Given the description of an element on the screen output the (x, y) to click on. 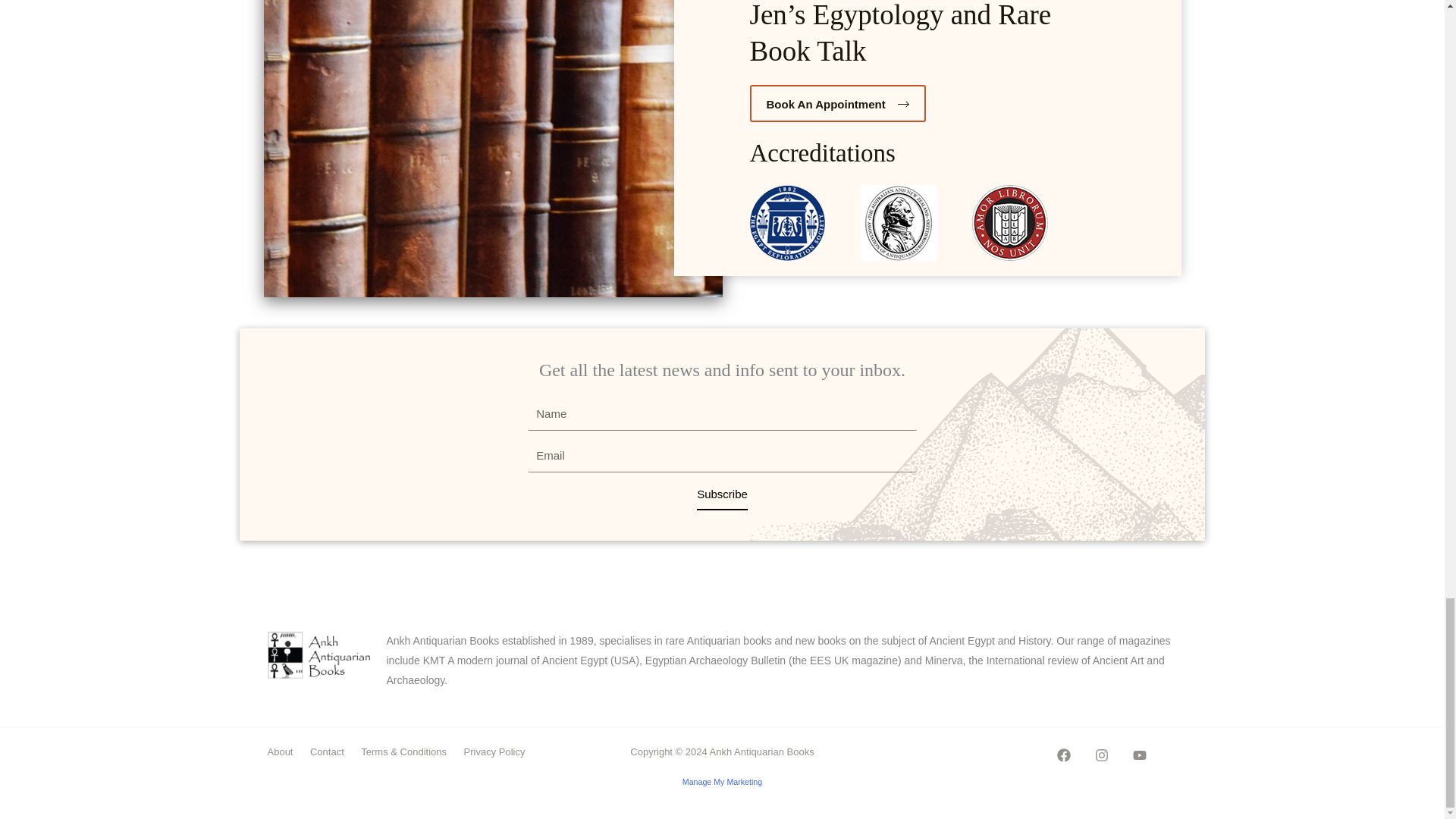
Contact (329, 751)
About (285, 751)
Subscribe (722, 494)
Book An Appointment (836, 103)
Manage My Marketing (721, 781)
Privacy Policy (497, 751)
